Given the description of an element on the screen output the (x, y) to click on. 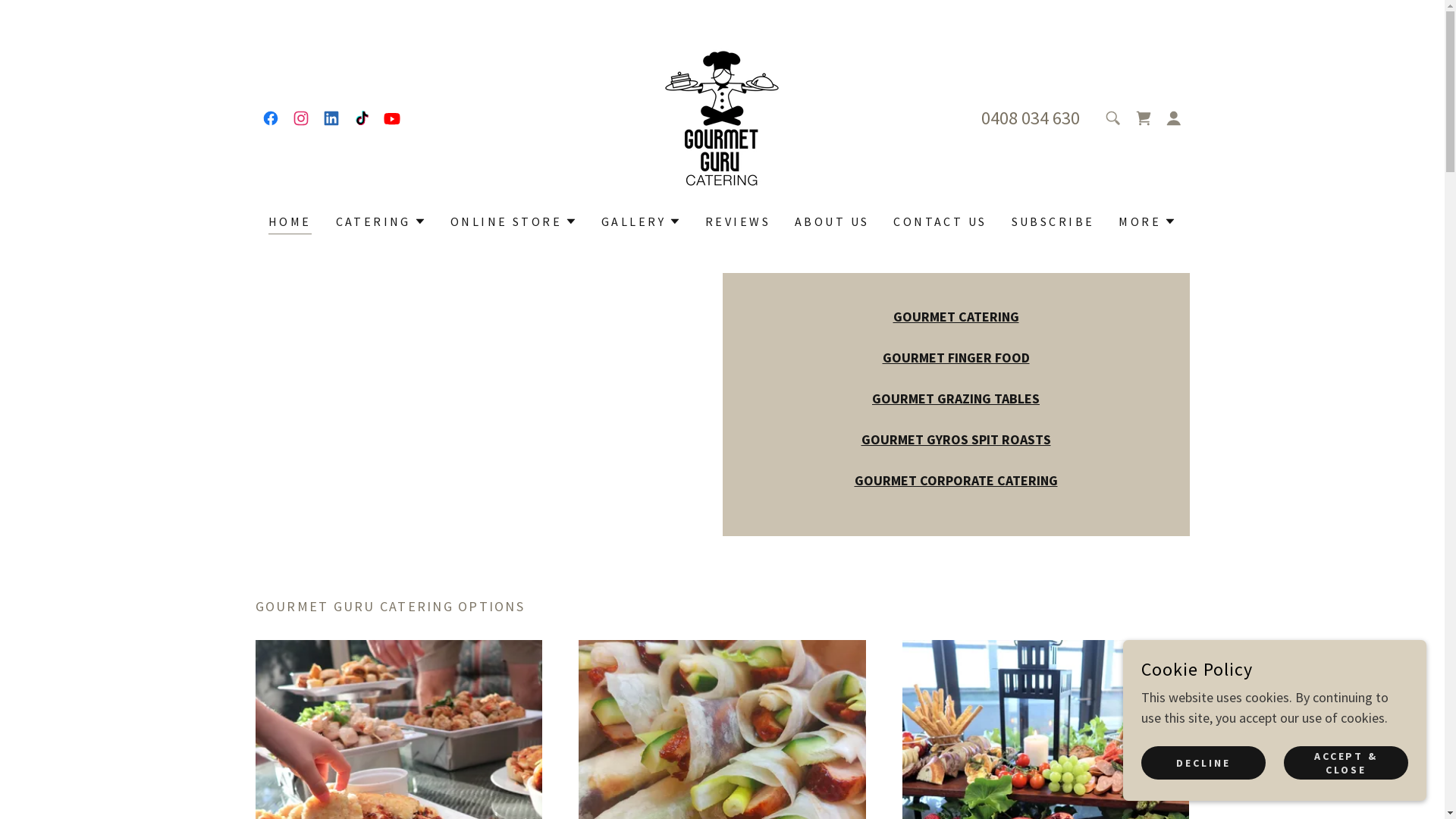
ACCEPT & CLOSE Element type: text (1345, 762)
Gourmet Guru Element type: hover (721, 116)
CONTACT US Element type: text (939, 221)
HOME Element type: text (289, 223)
ABOUT US Element type: text (831, 221)
GOURMET FINGER FOOD Element type: text (955, 357)
GOURMET CORPORATE CATERING Element type: text (955, 480)
GOURMET GRAZING TABLES Element type: text (955, 398)
REVIEWS Element type: text (737, 221)
0408 034 630 Element type: text (1030, 117)
GOURMET GYROS SPIT ROASTS Element type: text (956, 439)
GOURMET CATERING Element type: text (956, 316)
ONLINE STORE Element type: text (513, 221)
SUBSCRIBE Element type: text (1053, 221)
CATERING Element type: text (380, 221)
DECLINE Element type: text (1203, 762)
MORE Element type: text (1147, 221)
GALLERY Element type: text (640, 221)
